Given the description of an element on the screen output the (x, y) to click on. 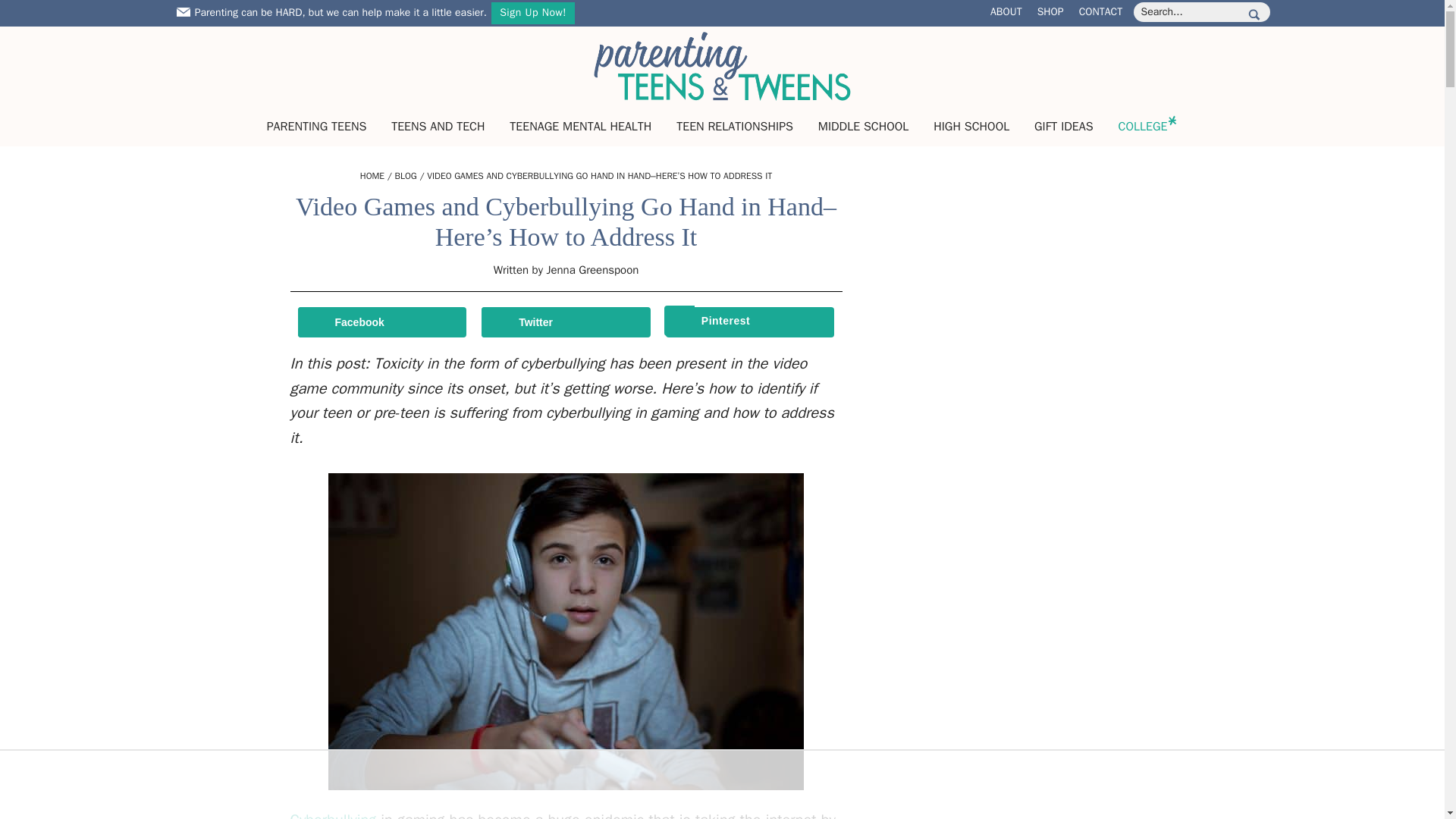
Share on Facebook (381, 322)
Share on X (565, 322)
ABOUT (1006, 11)
SHOP (1050, 11)
CONTACT (1100, 11)
Save to Pinterest (749, 322)
Sign Up Now! (533, 13)
